Given the description of an element on the screen output the (x, y) to click on. 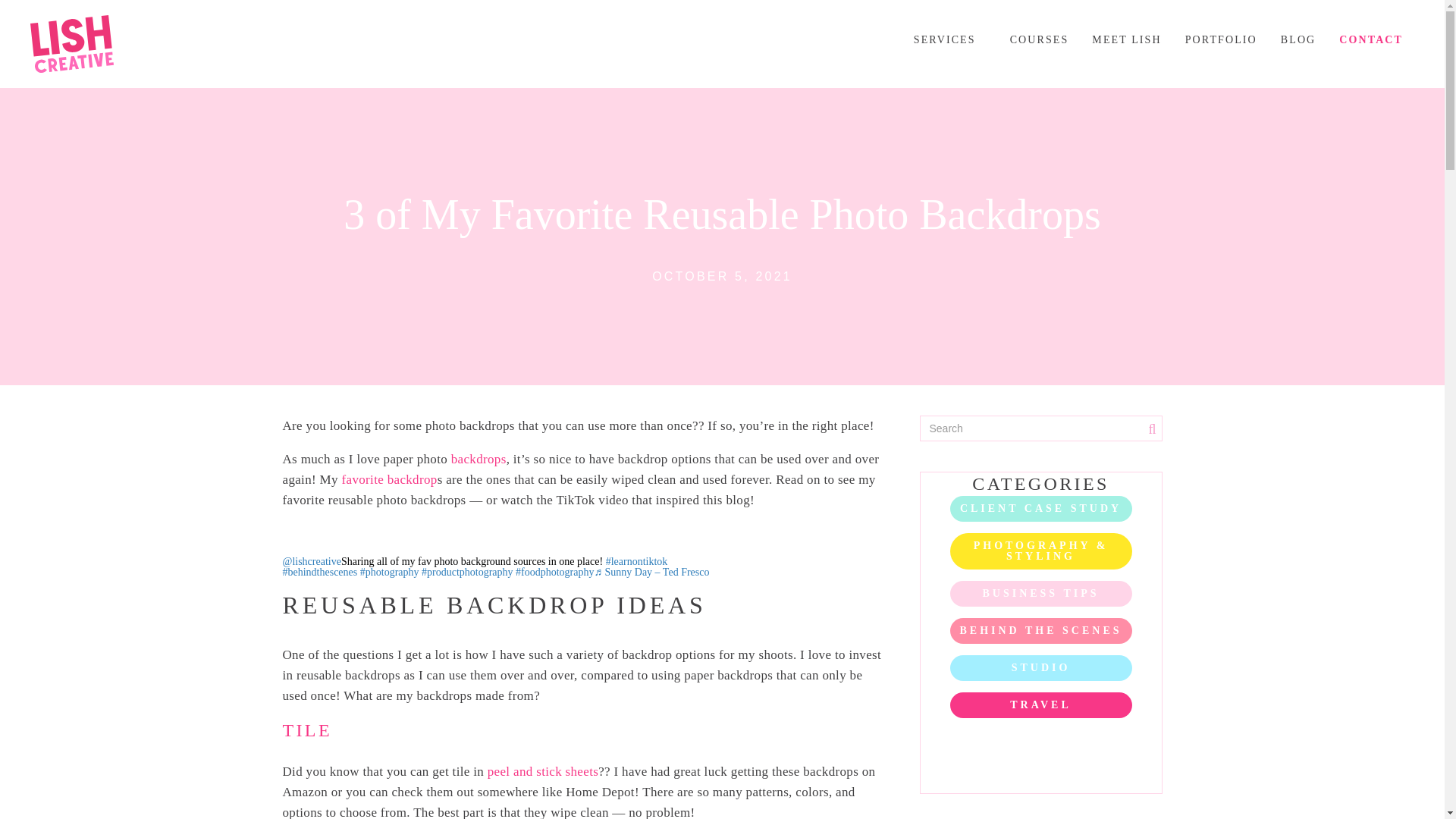
ADVENTURE (1040, 742)
CLIENT CASE STUDY (1040, 508)
SERVICES (949, 47)
photography (389, 572)
behindthescenes (319, 572)
foodphotography (554, 572)
COURSES (1039, 47)
STUDIO (1040, 667)
CONTACT (1370, 47)
learnontiktok (636, 561)
